Given the description of an element on the screen output the (x, y) to click on. 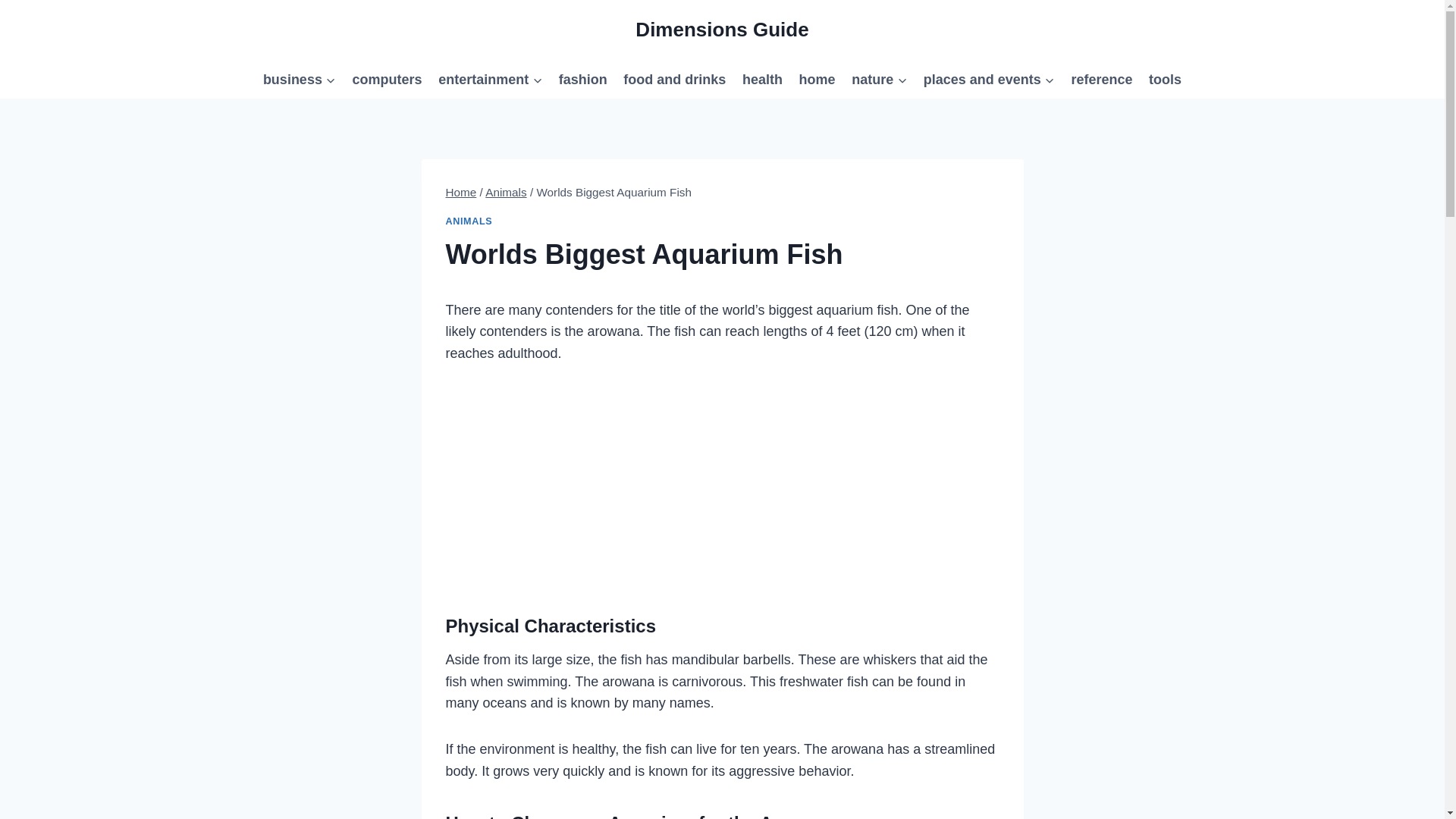
reference (1101, 79)
fashion (582, 79)
nature (879, 79)
home (817, 79)
Dimensions Guide (721, 29)
business (298, 79)
health (761, 79)
ANIMALS (469, 221)
Home (461, 192)
food and drinks (675, 79)
